Given the description of an element on the screen output the (x, y) to click on. 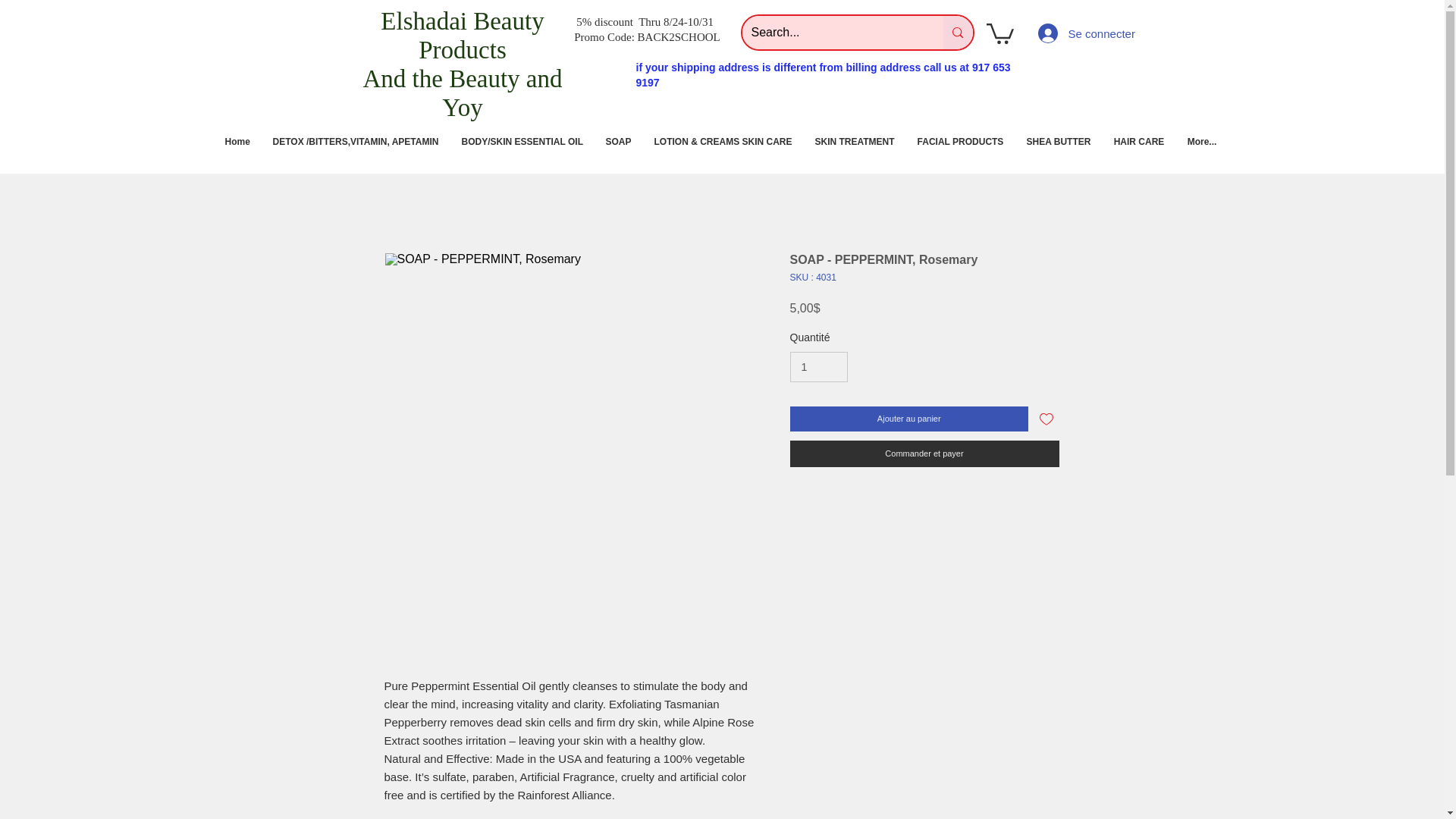
Home (238, 141)
SKIN TREATMENT (854, 141)
Commander et payer (924, 453)
Se connecter (1057, 32)
Ajouter au panier (909, 418)
SOAP (618, 141)
1 (818, 367)
HAIR CARE (1139, 141)
